Given the description of an element on the screen output the (x, y) to click on. 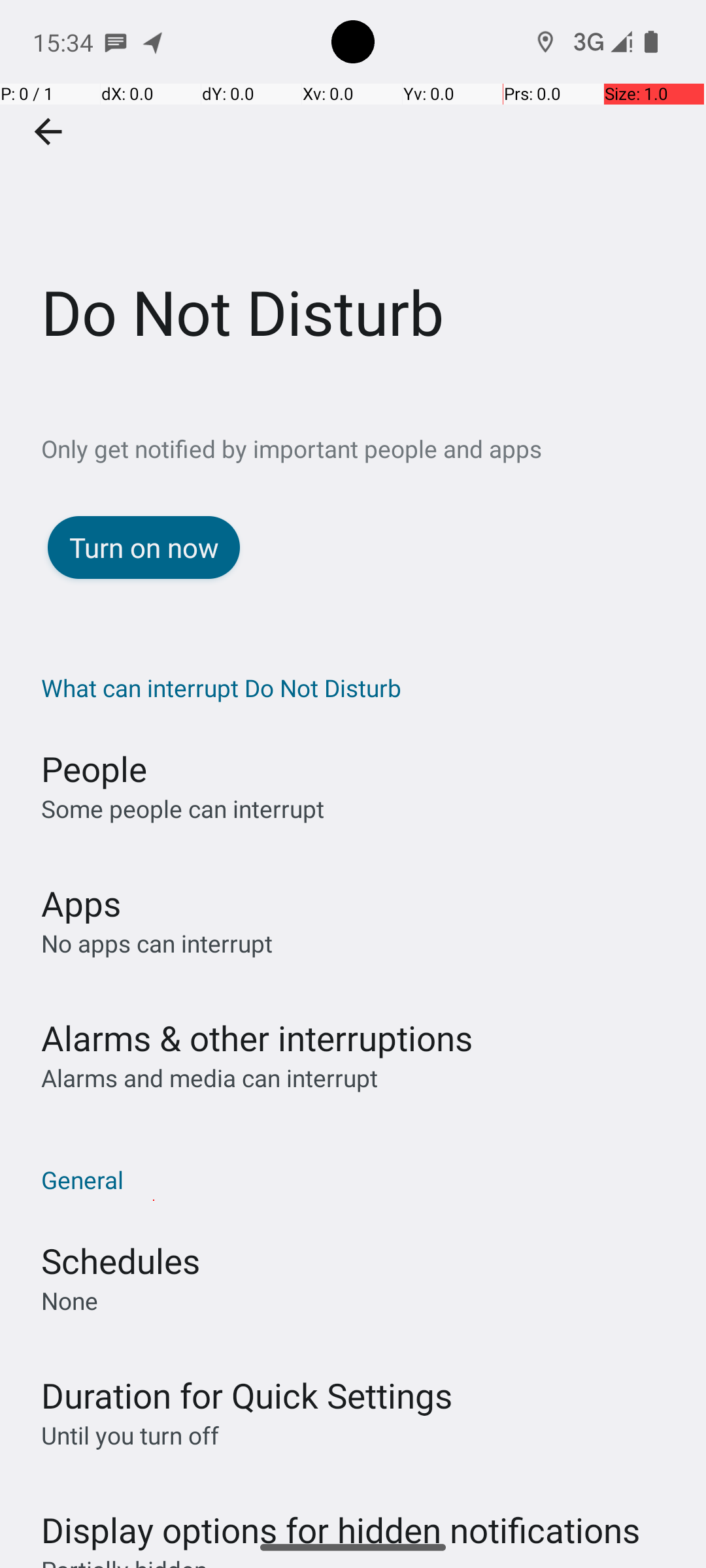
Do Not Disturb Element type: android.widget.FrameLayout (353, 195)
Only get notified by important people and apps Element type: android.widget.TextView (373, 448)
Turn on now Element type: android.widget.Button (143, 547)
What can interrupt Do Not Disturb Element type: android.widget.TextView (359, 687)
People Element type: android.widget.TextView (94, 768)
Some people can interrupt Element type: android.widget.TextView (182, 808)
No apps can interrupt Element type: android.widget.TextView (156, 942)
Alarms & other interruptions Element type: android.widget.TextView (256, 1037)
Alarms and media can interrupt Element type: android.widget.TextView (209, 1077)
Schedules Element type: android.widget.TextView (120, 1260)
Duration for Quick Settings Element type: android.widget.TextView (246, 1395)
Until you turn off Element type: android.widget.TextView (129, 1434)
Display options for hidden notifications Element type: android.widget.TextView (340, 1516)
